Given the description of an element on the screen output the (x, y) to click on. 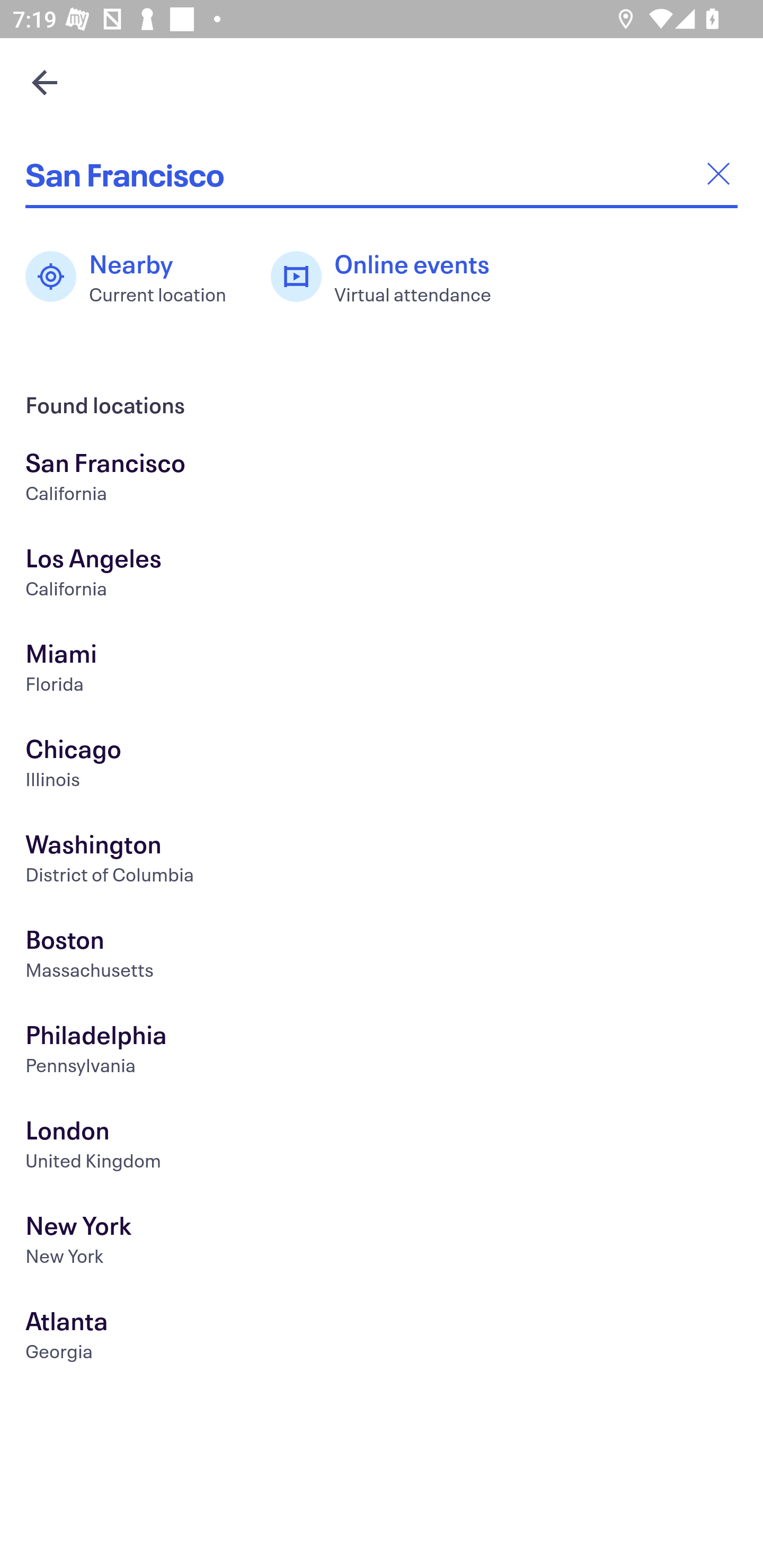
Navigate up (44, 82)
San Francisco (381, 173)
Nearby Current location (135, 276)
Online events Virtual attendance (390, 276)
San Francisco California (381, 479)
Los Angeles California (381, 574)
Miami Florida (381, 670)
Chicago Illinois (381, 765)
Washington District of Columbia (381, 861)
Boston Massachusetts (381, 955)
Philadelphia Pennsylvania (381, 1051)
London United Kingdom (381, 1146)
New York (381, 1242)
Atlanta Georgia (381, 1338)
